Given the description of an element on the screen output the (x, y) to click on. 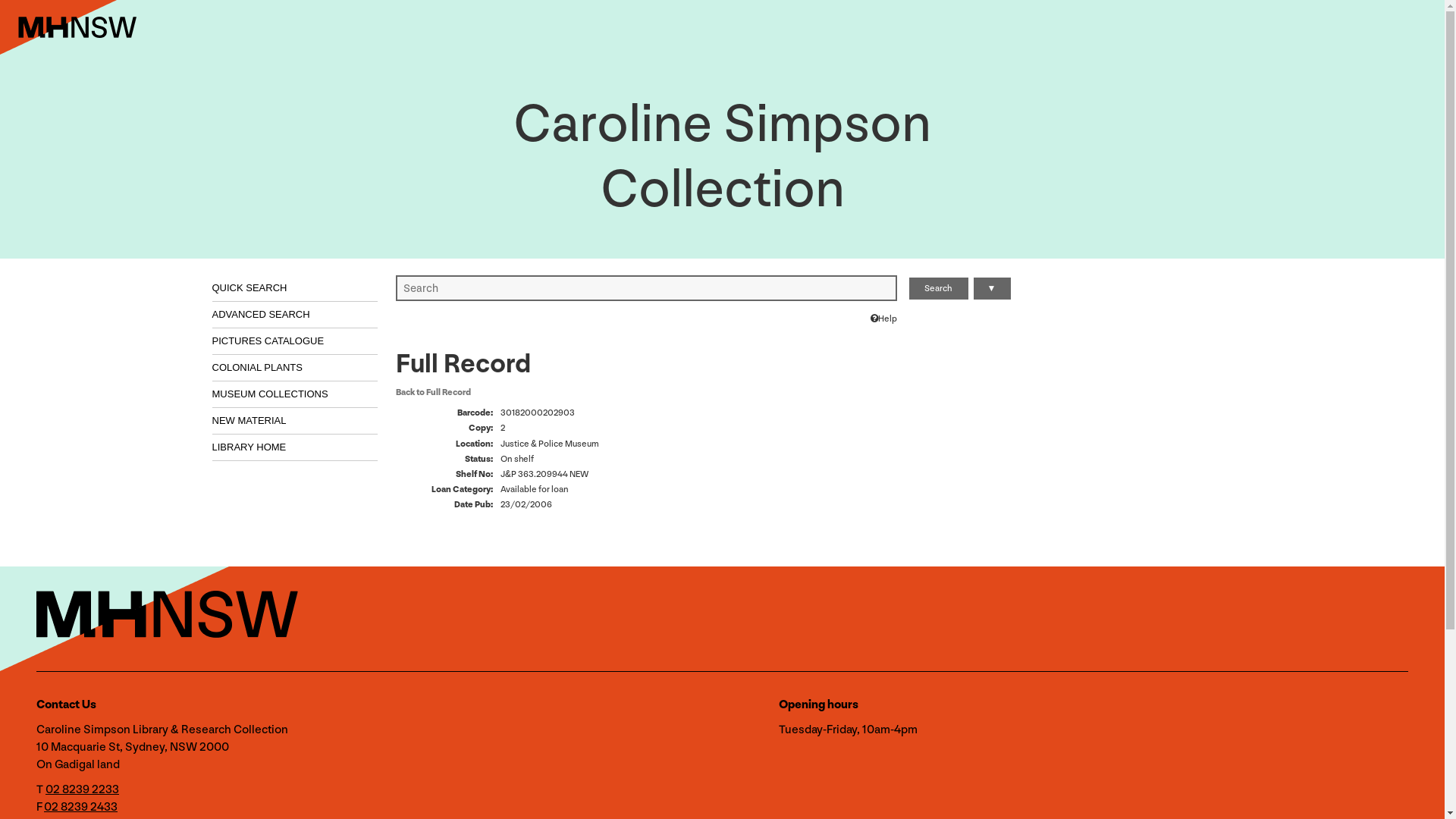
NEW MATERIAL Element type: text (295, 420)
02 8239 2433 Element type: text (80, 806)
QUICK SEARCH Element type: text (295, 288)
Help Element type: text (883, 318)
Back to Full Record Element type: text (432, 391)
Search Element type: hover (938, 288)
ADVANCED SEARCH Element type: text (295, 314)
02 8239 2233 Element type: text (82, 789)
Type search term here Element type: hover (646, 288)
COLONIAL PLANTS Element type: text (295, 367)
MUSEUM COLLECTIONS Element type: text (295, 394)
LIBRARY HOME Element type: text (295, 447)
Search Element type: text (938, 288)
PICTURES CATALOGUE Element type: text (295, 341)
